Given the description of an element on the screen output the (x, y) to click on. 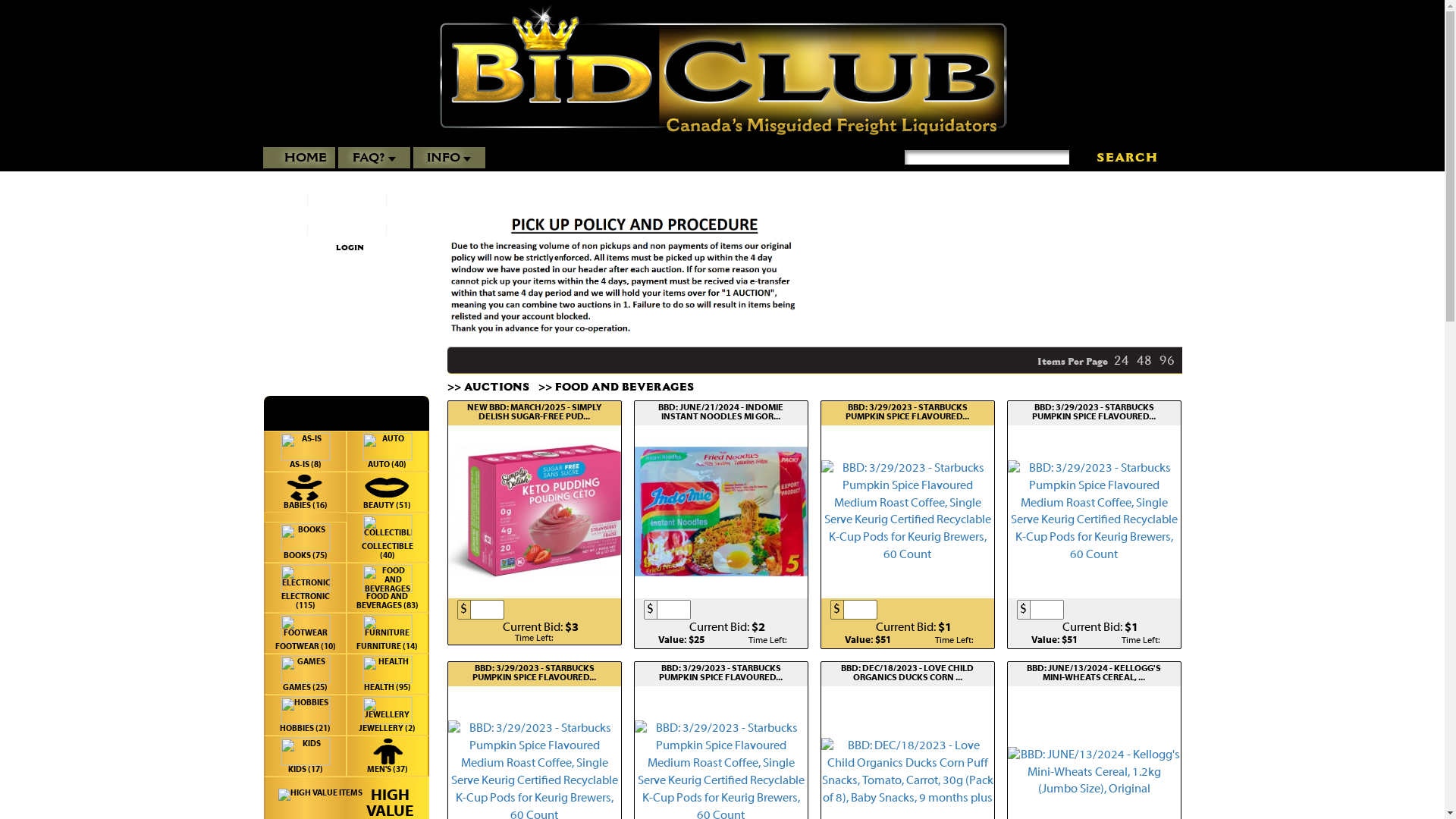
BEAUTY (51) Element type: text (386, 491)
BABIES (16) Element type: text (304, 491)
ELECTRONIC (115) Element type: text (304, 587)
FOOTWEAR (10) Element type: text (304, 632)
COLLECTIBLE (40) Element type: text (386, 537)
BID NOW Element type: text (1118, 610)
48 Element type: text (1143, 359)
96 Element type: text (1166, 359)
GAMES (25) Element type: text (304, 673)
FOOTWEAR Element type: hover (305, 628)
HEALTH (95) Element type: text (386, 673)
KIDS (17) Element type: text (304, 755)
JEWELLERY (2) Element type: text (386, 714)
HOBBIES (21) Element type: text (304, 714)
BOOKS Element type: hover (305, 537)
MEN'S (37) Element type: text (386, 755)
HOME Element type: text (298, 157)
FOOD AND BEVERAGES Element type: hover (387, 578)
BBD: 3/29/2023 - STARBUCKS PUMPKIN SPICE FLAVOURED... Element type: text (1093, 412)
BidClub Element type: hover (722, 69)
24 Element type: text (1121, 359)
HEALTH Element type: hover (387, 669)
SEARCH Element type: text (1126, 157)
BID NOW Element type: text (745, 610)
AS-IS Element type: hover (305, 446)
FURNITURE Element type: hover (387, 628)
BBD: DEC/18/2023 - LOVE CHILD ORGANICS DUCKS CORN ... Element type: text (907, 673)
BBD: 3/29/2023 - STARBUCKS PUMPKIN SPICE FLAVOURED... Element type: text (907, 412)
AUTO Element type: hover (387, 446)
GAMES Element type: hover (305, 669)
AUTO (40) Element type: text (386, 450)
BEAUTY Element type: hover (387, 487)
FURNITURE (14) Element type: text (386, 632)
LOGIN Element type: text (349, 247)
FAQ? Element type: text (374, 157)
ELECTRONIC Element type: hover (305, 578)
JEWELLERY Element type: hover (387, 710)
BID NOW Element type: text (932, 610)
Join Element type: text (346, 331)
BBD: JUNE/13/2024 - KELLOGG'S MINI-WHEATS CEREAL, ... Element type: text (1093, 673)
KIDS Element type: hover (305, 751)
BABIES Element type: hover (305, 487)
NEW BBD: MARCH/2025 - SIMPLY DELISH SUGAR-FREE PUD... Element type: text (534, 412)
COLLECTIBLE Element type: hover (387, 528)
BID NOW Element type: text (558, 610)
INFO Element type: text (448, 157)
HOBBIES Element type: hover (305, 710)
FOOD AND BEVERAGES (83) Element type: text (386, 587)
AS-IS (8) Element type: text (304, 450)
BBD: 3/29/2023 - STARBUCKS PUMPKIN SPICE FLAVOURED... Element type: text (534, 673)
BBD: 3/29/2023 - STARBUCKS PUMPKIN SPICE FLAVOURED... Element type: text (720, 673)
BBD: JUNE/21/2024 - INDOMIE INSTANT NOODLES MI GOR... Element type: text (720, 412)
BOOKS (75) Element type: text (304, 541)
MEN'S Element type: hover (387, 751)
